Given the description of an element on the screen output the (x, y) to click on. 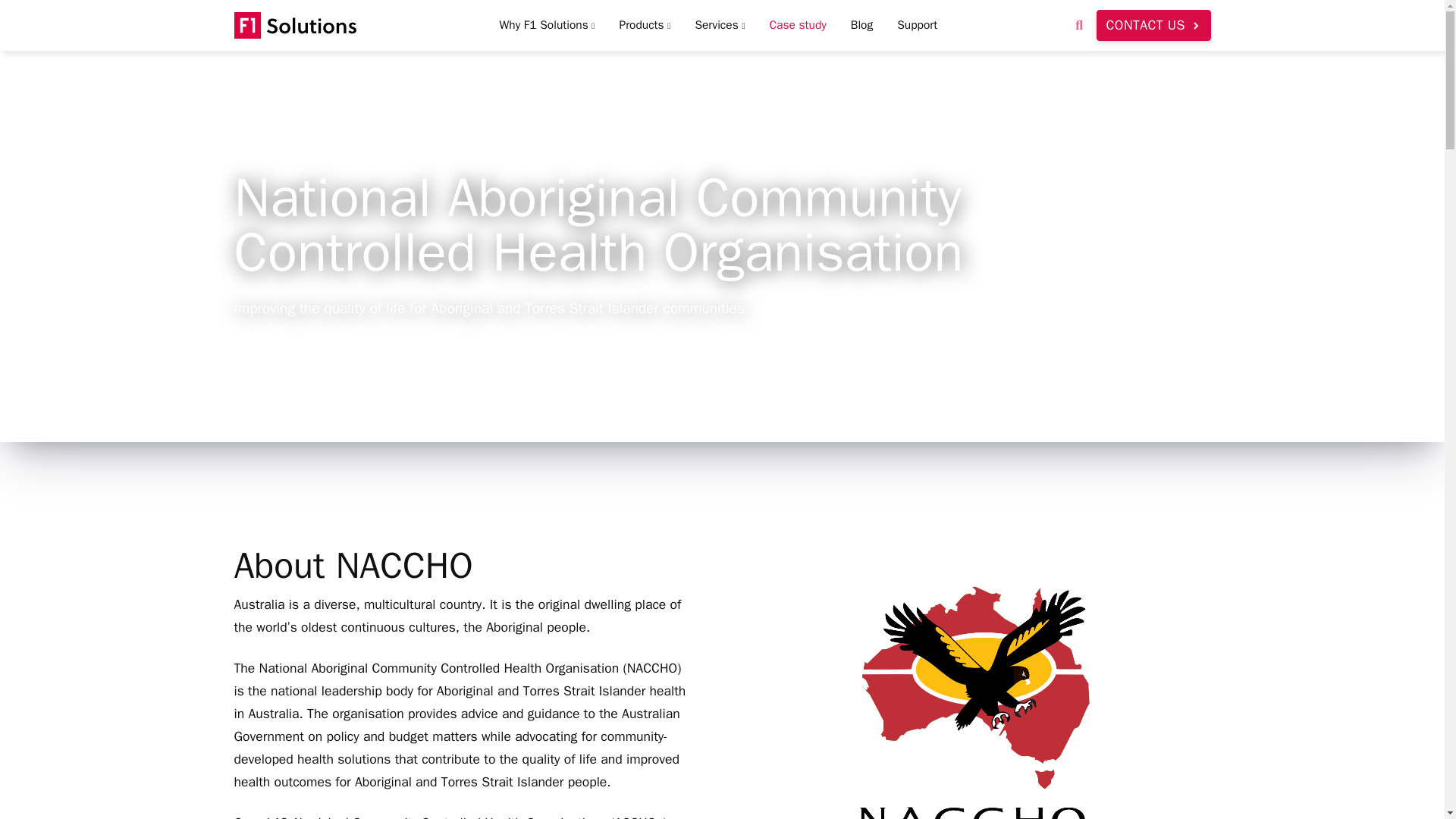
About NACCHO (458, 566)
Case study (797, 25)
Support (917, 25)
Services (719, 25)
Blog (861, 25)
Why F1 Solutions (547, 25)
CONTACT US (1153, 24)
Products (644, 25)
